Given the description of an element on the screen output the (x, y) to click on. 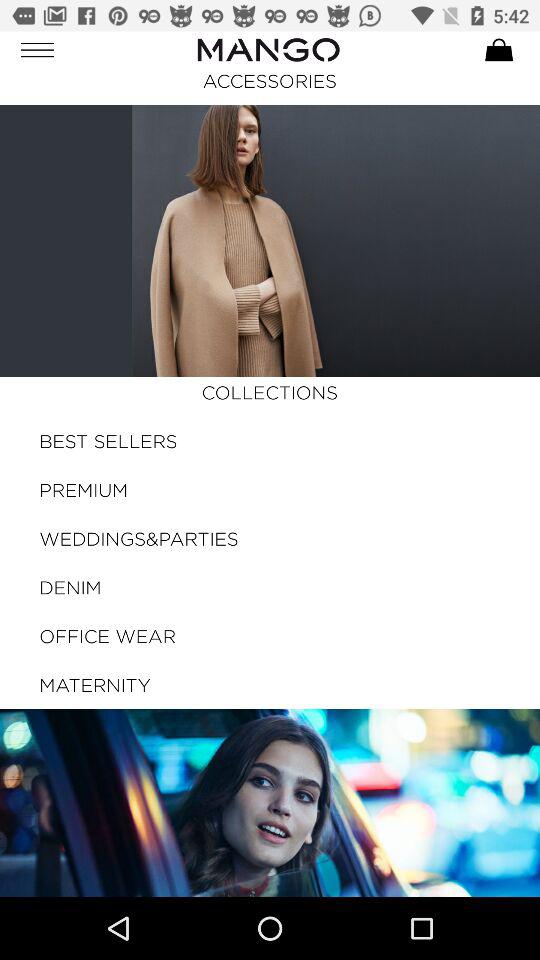
click the button on the top left corner of the web page (50, 49)
select the logo on left to the cart button on the web page (268, 50)
click on cart symbol (498, 49)
